Given the description of an element on the screen output the (x, y) to click on. 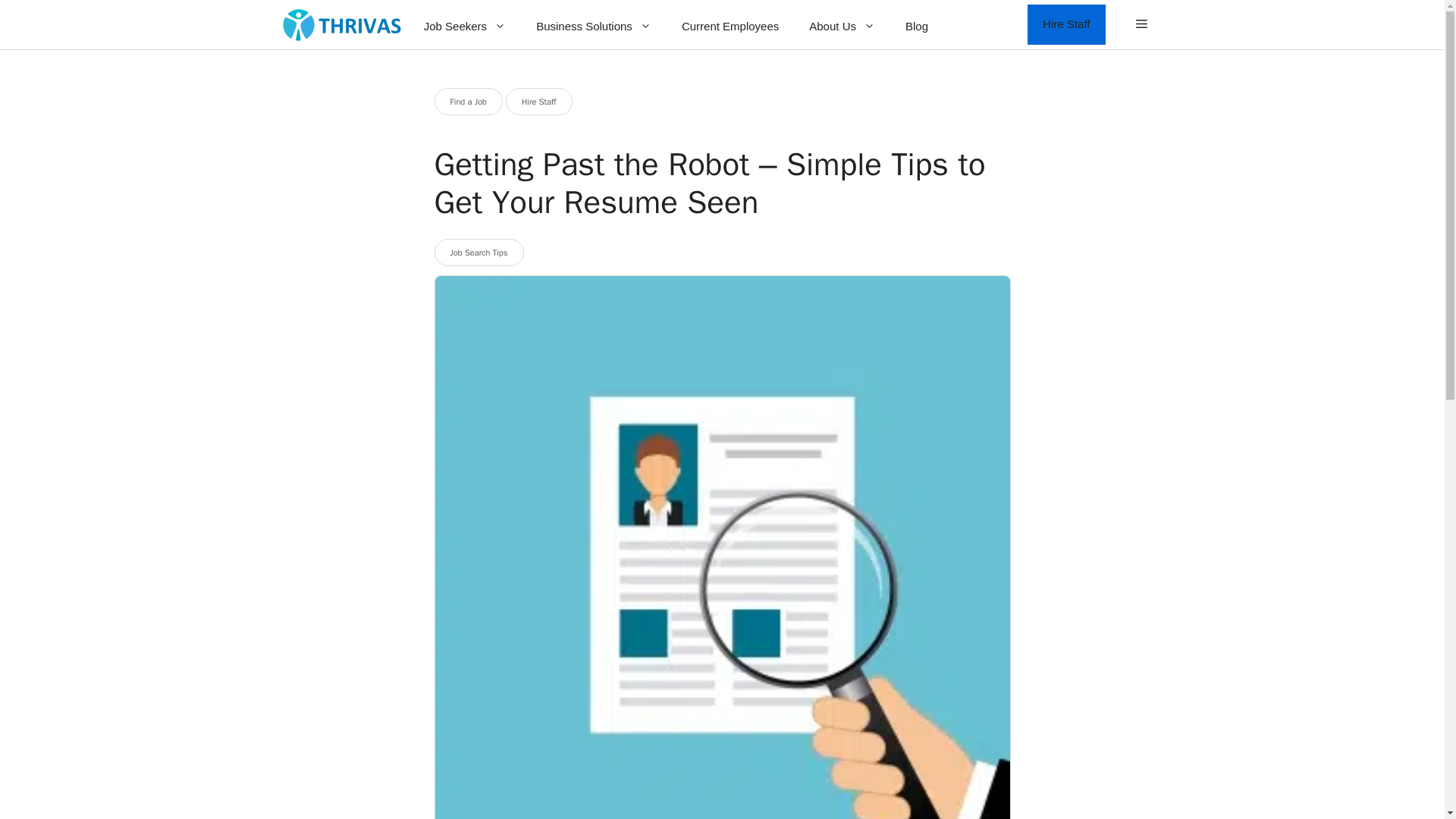
Business Solutions (593, 26)
Find a Job (467, 101)
Thrivas (341, 24)
Hire Staff (1066, 24)
Job Search Tips (477, 252)
Job Seekers (465, 26)
Hire Staff (538, 101)
About Us (841, 26)
Blog (916, 26)
Current Employees (729, 26)
